Given the description of an element on the screen output the (x, y) to click on. 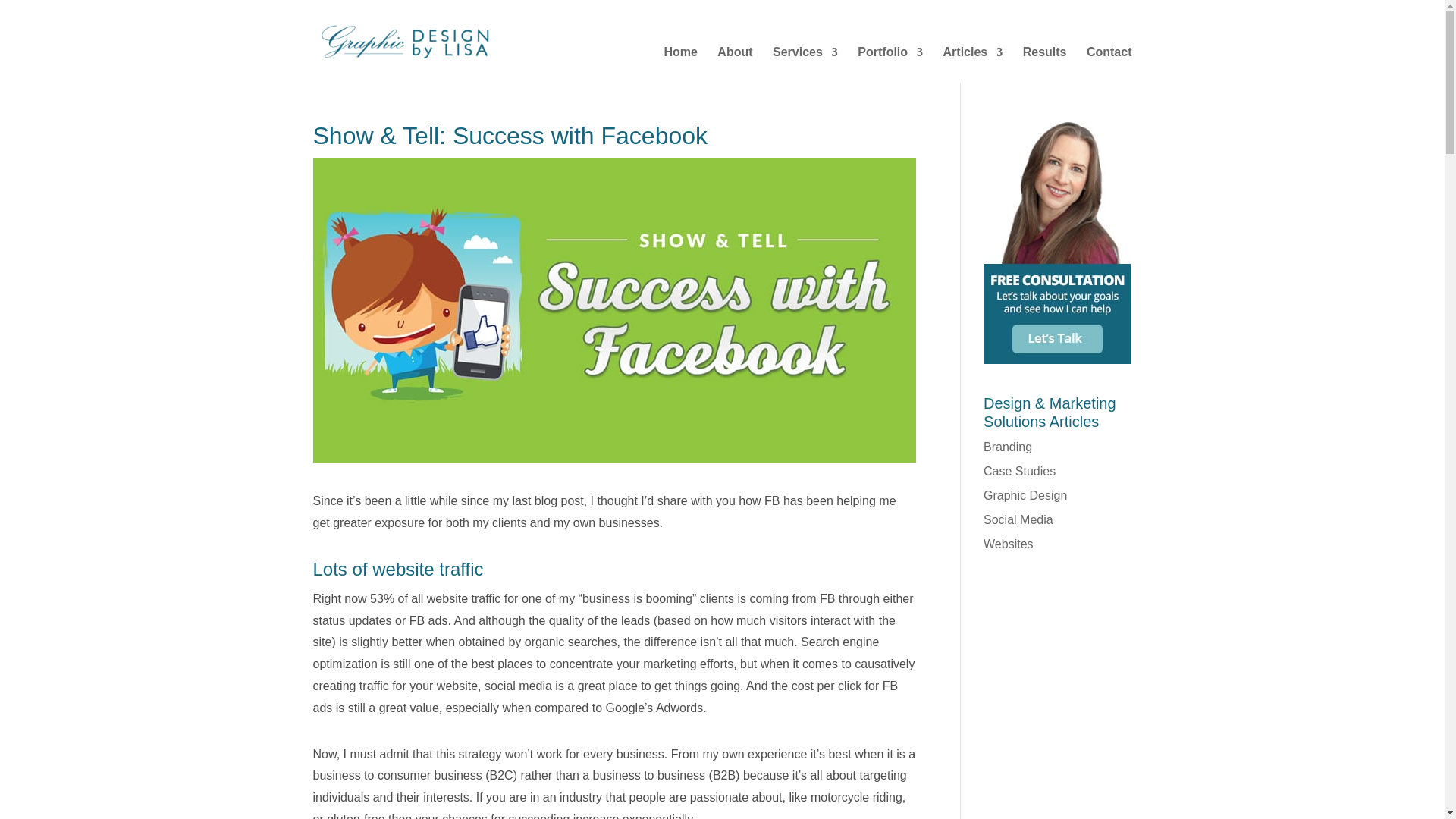
Services (805, 64)
Articles (973, 64)
Home (680, 64)
Contact (1057, 359)
Portfolio (890, 64)
About (734, 64)
